Given the description of an element on the screen output the (x, y) to click on. 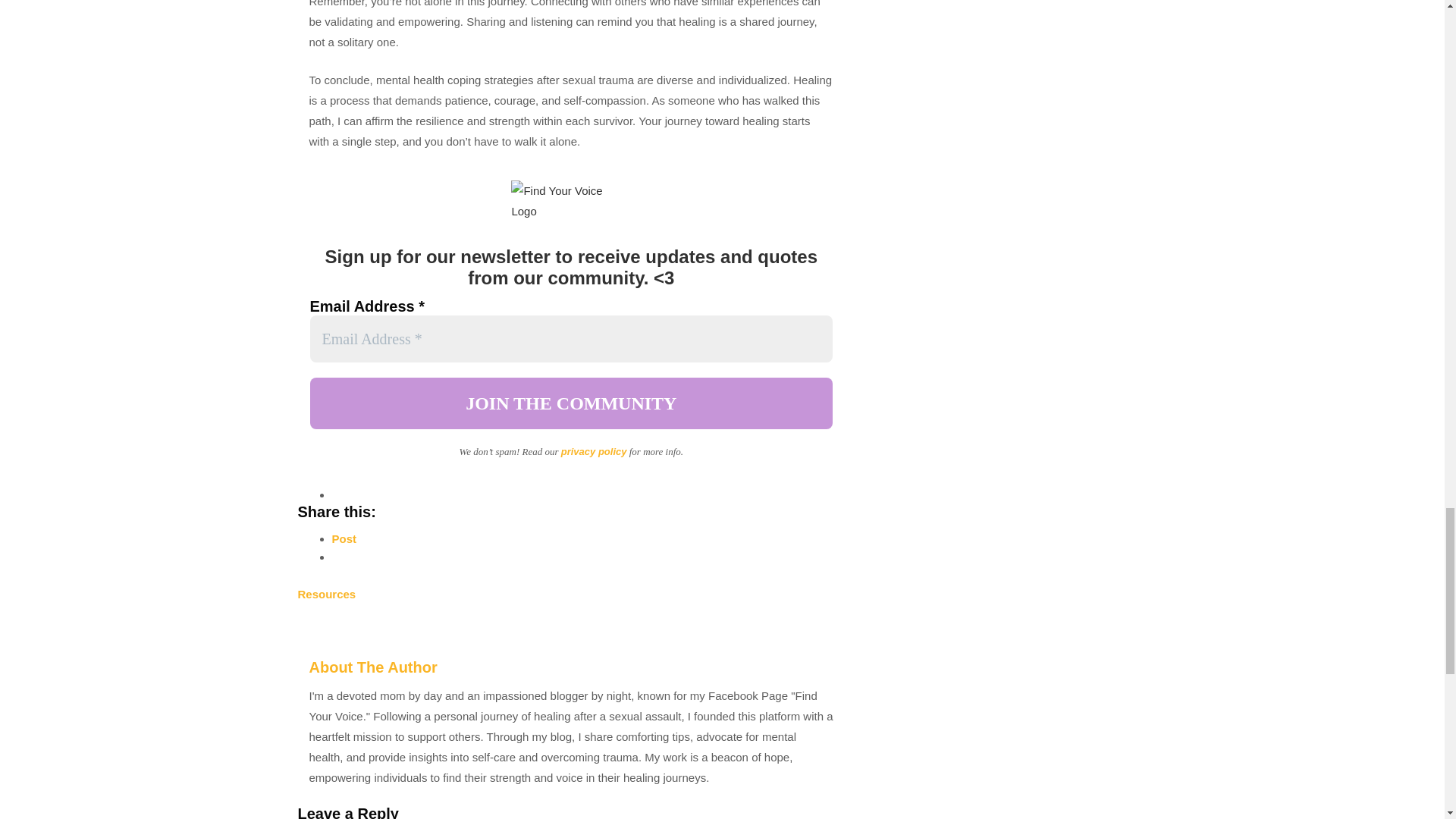
JOIN THE COMMUNITY (570, 403)
About The Author (373, 667)
privacy policy (593, 451)
Email Address (570, 338)
JOIN THE COMMUNITY (570, 403)
Resources (326, 594)
Post (343, 538)
